Given the description of an element on the screen output the (x, y) to click on. 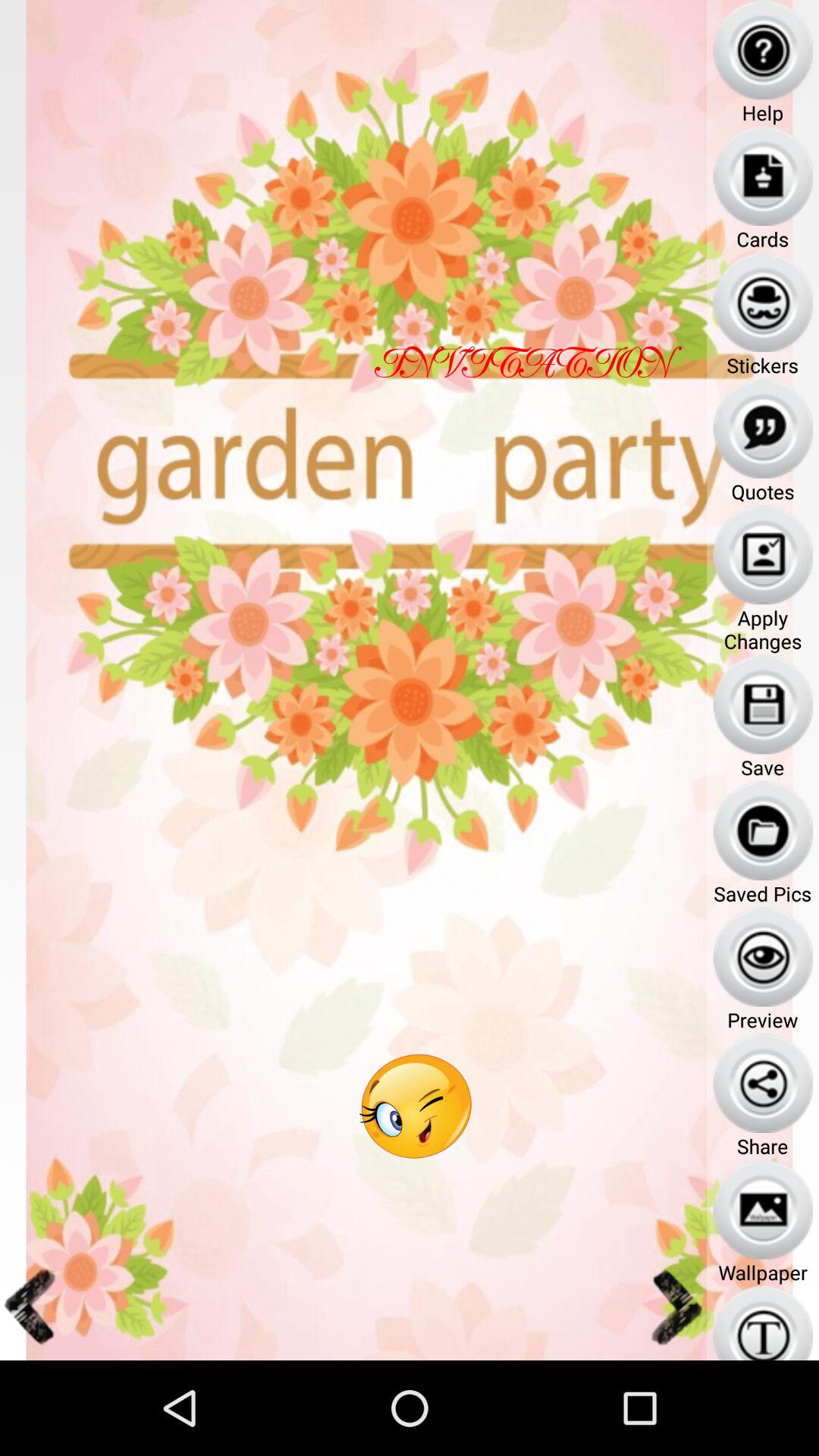
choose app below the stickers icon (762, 428)
